Given the description of an element on the screen output the (x, y) to click on. 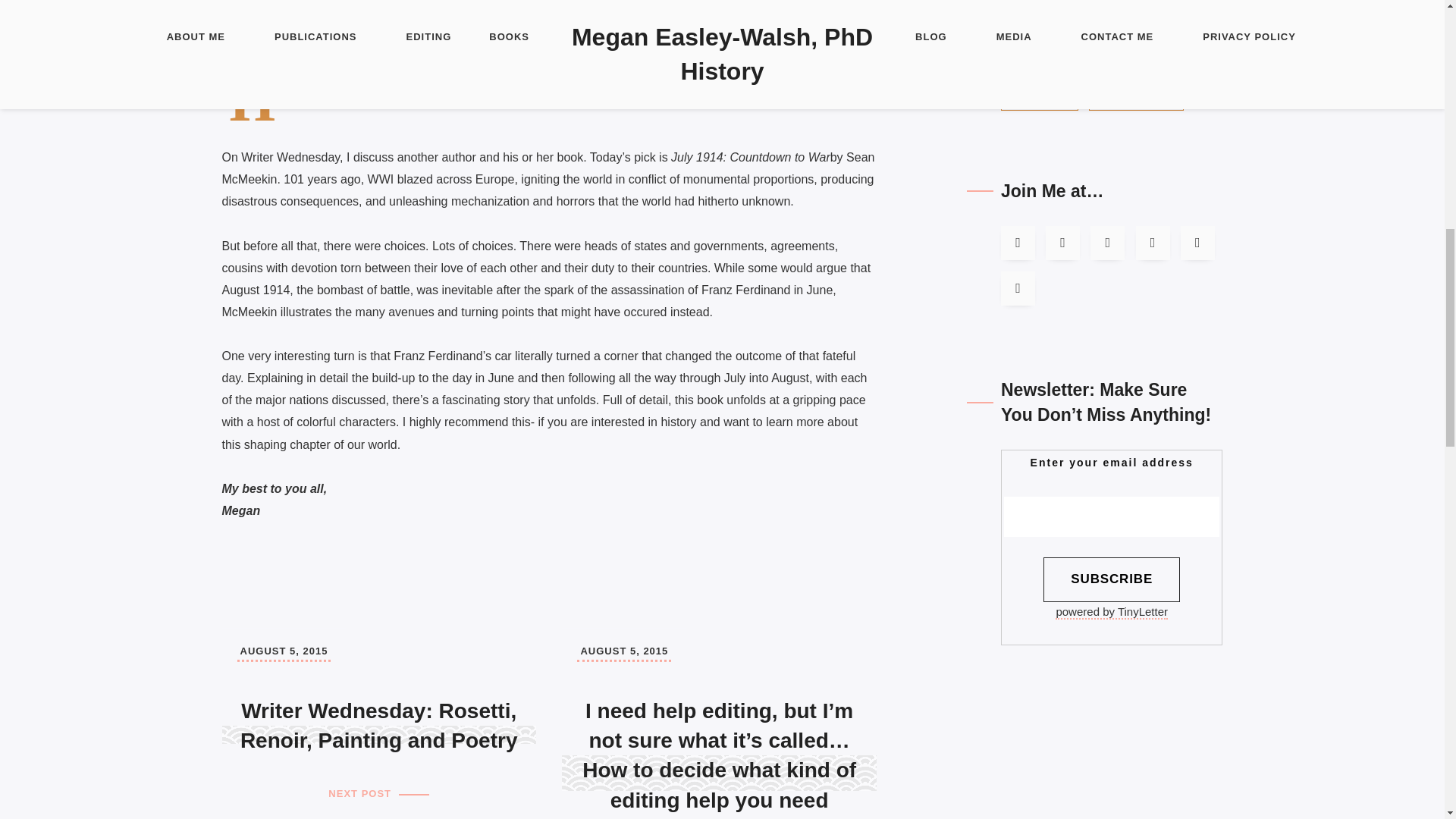
ROMANCE (1037, 34)
SUSPENSE (1039, 98)
MYSTERY (1169, 7)
Subscribe (1111, 579)
WRITING TIPS (1137, 98)
MAGICAL REALISM (1061, 7)
ROMANCE IN THE CARDS (1079, 66)
